Given the description of an element on the screen output the (x, y) to click on. 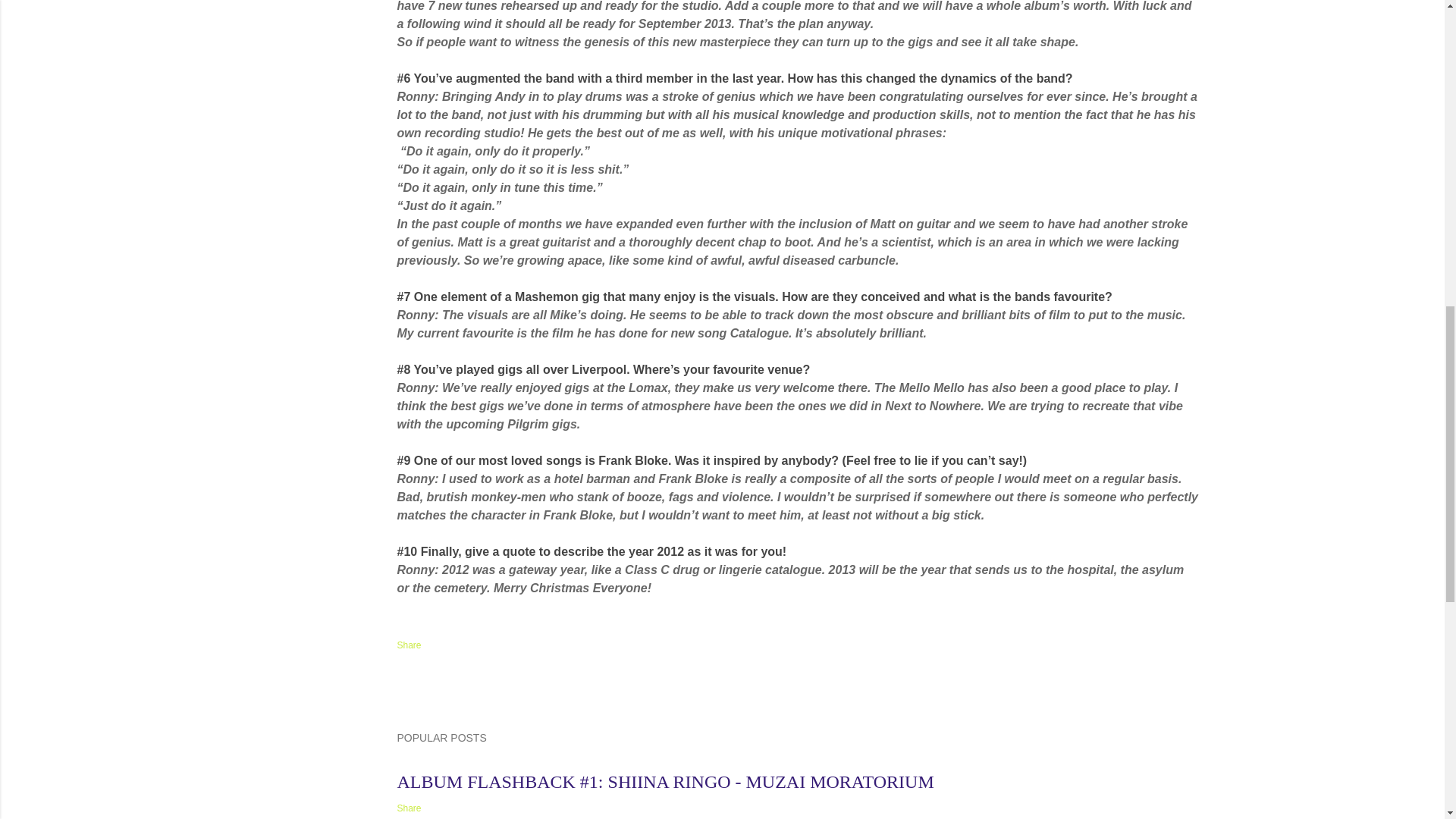
May 22, 2013 (424, 762)
permanent link (424, 762)
Share (409, 808)
Share (409, 644)
